Given the description of an element on the screen output the (x, y) to click on. 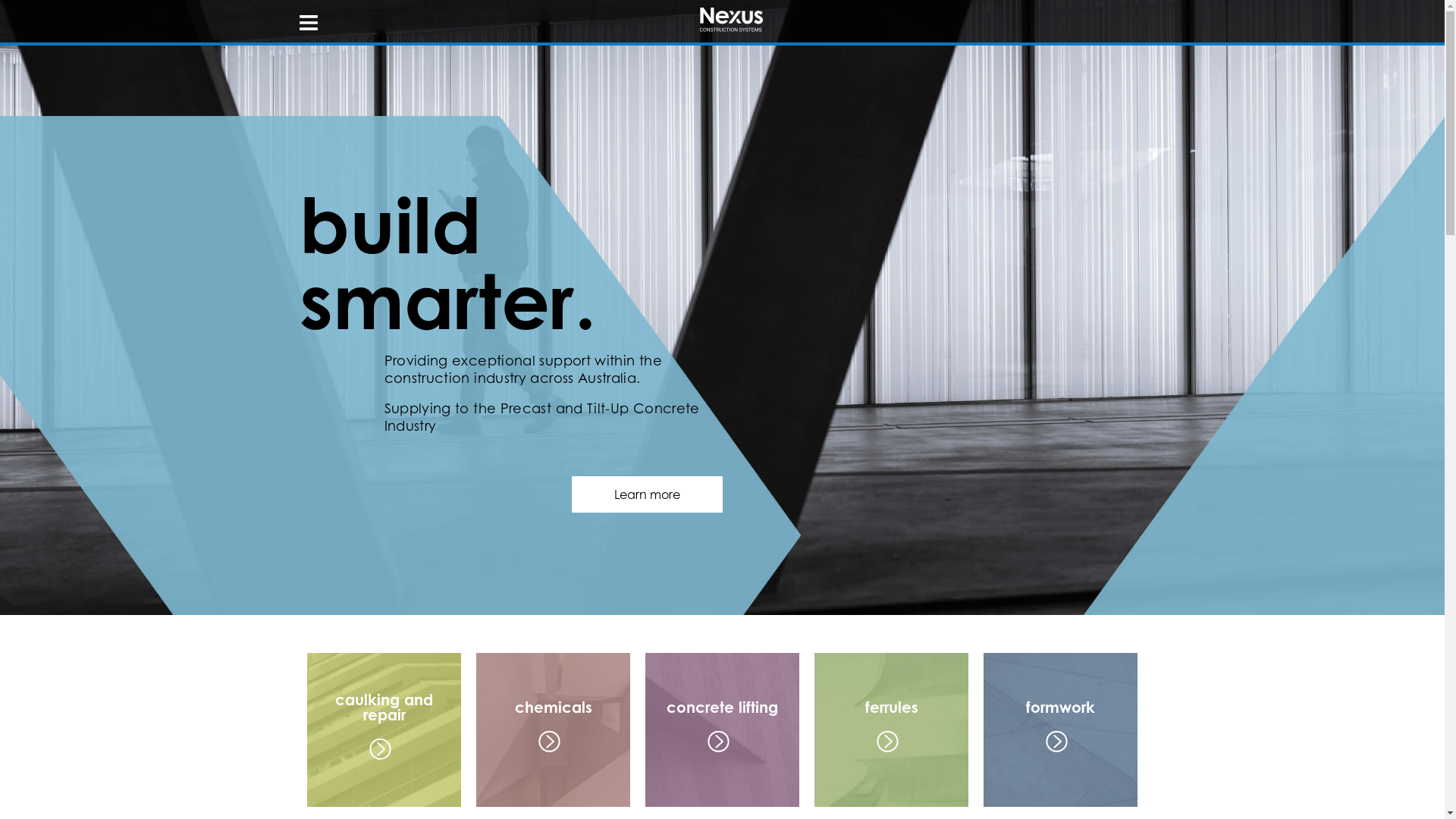
concrete lifting Element type: text (722, 729)
caulking and repair Element type: text (384, 729)
Learn more Element type: text (646, 494)
ferrules Element type: text (891, 729)
formwork Element type: text (1060, 729)
hero-banner Element type: hover (722, 307)
chemicals Element type: text (553, 729)
